Given the description of an element on the screen output the (x, y) to click on. 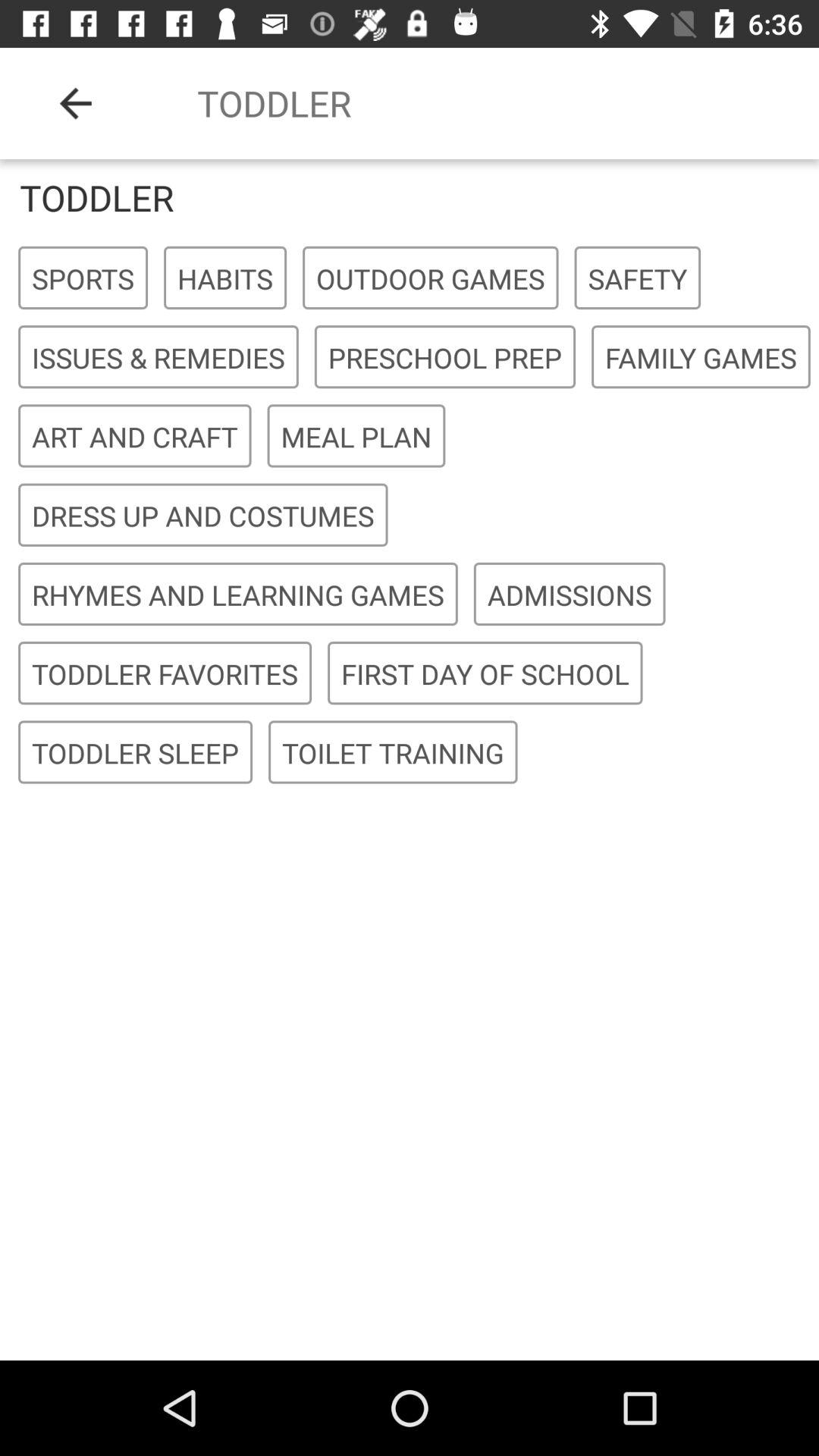
launch the admissions icon (569, 594)
